Given the description of an element on the screen output the (x, y) to click on. 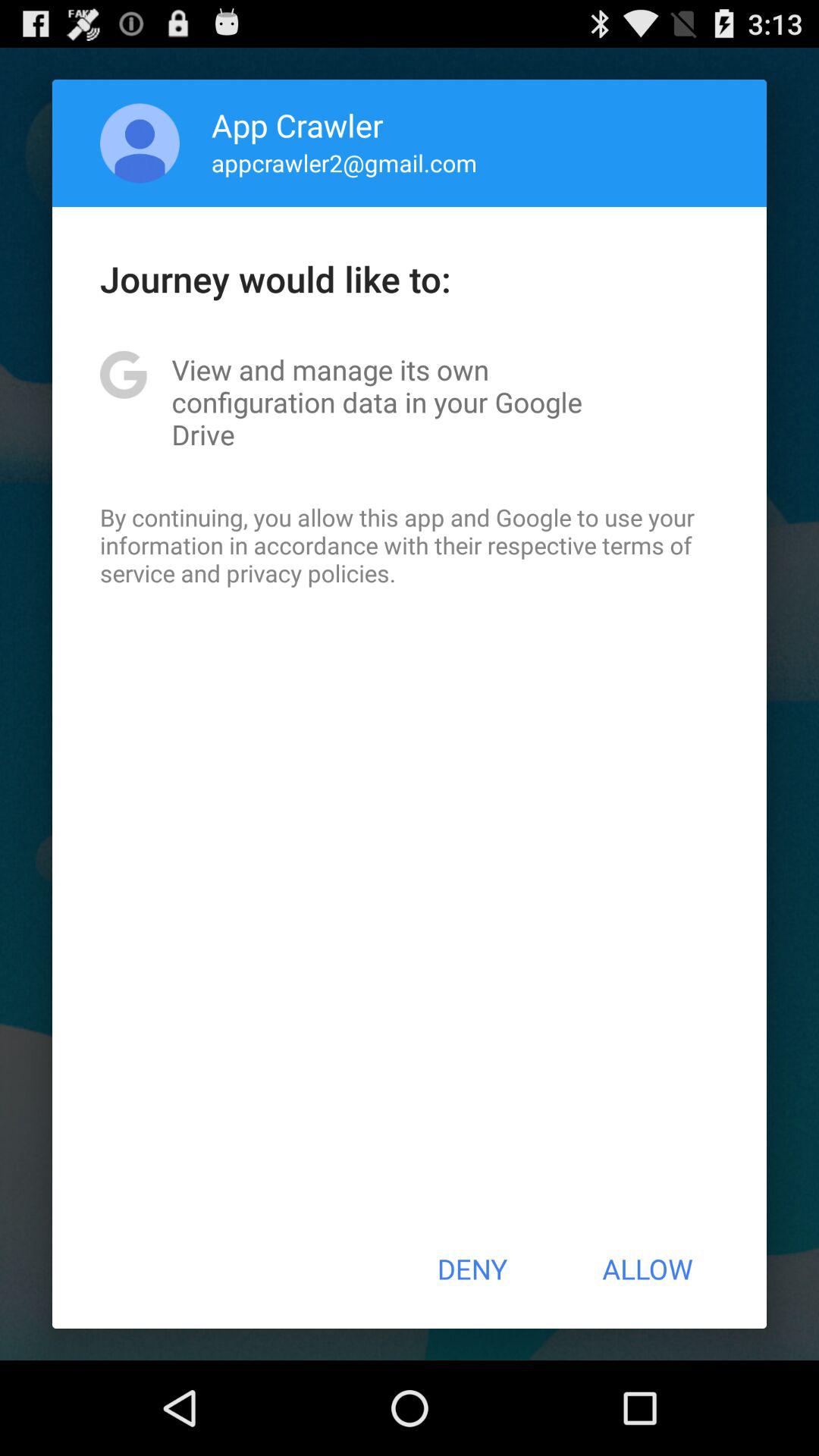
scroll to deny button (471, 1268)
